Given the description of an element on the screen output the (x, y) to click on. 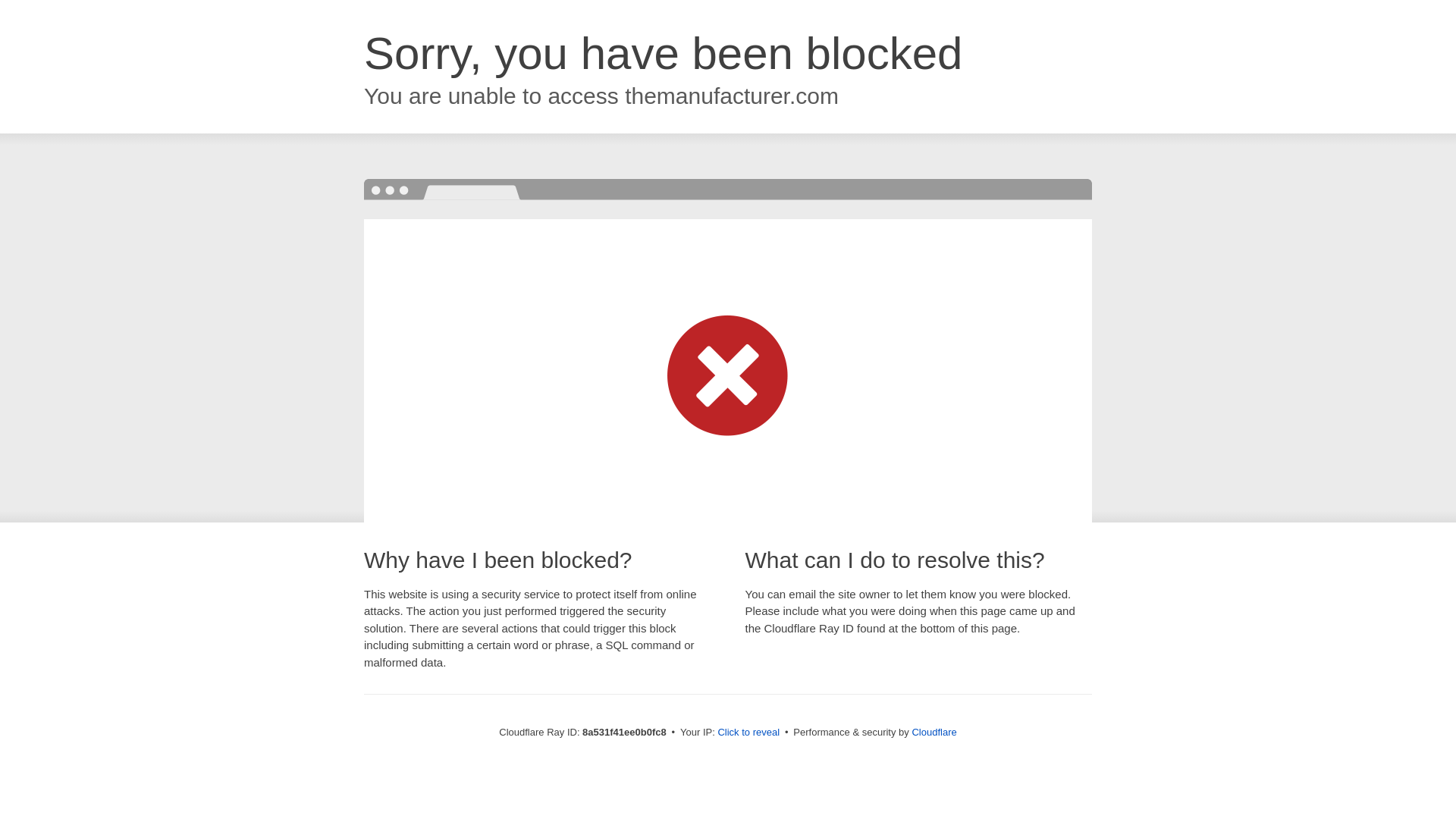
Click to reveal (747, 732)
Cloudflare (933, 731)
